Given the description of an element on the screen output the (x, y) to click on. 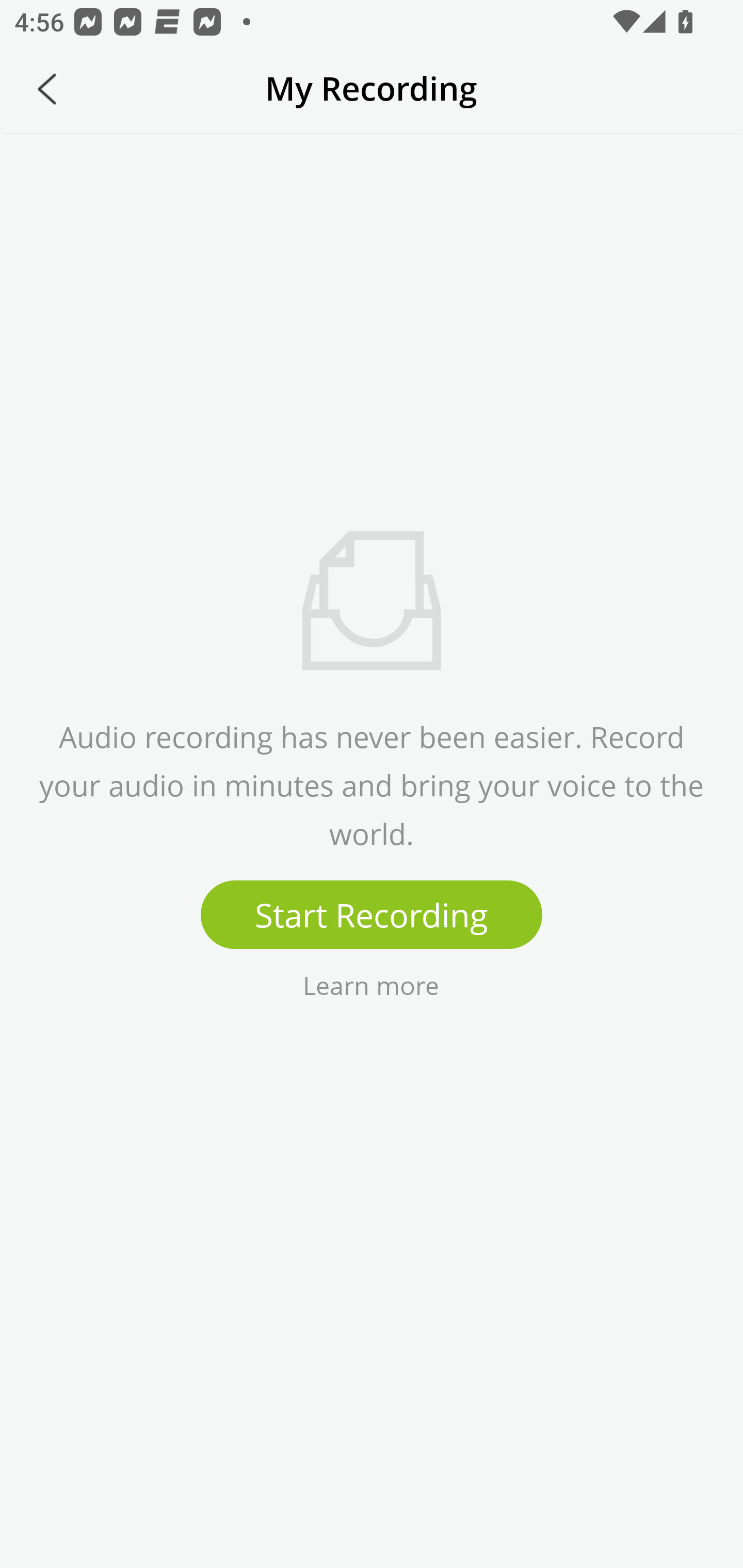
Back (46, 88)
Start Recording (371, 914)
Learn more (370, 984)
